Given the description of an element on the screen output the (x, y) to click on. 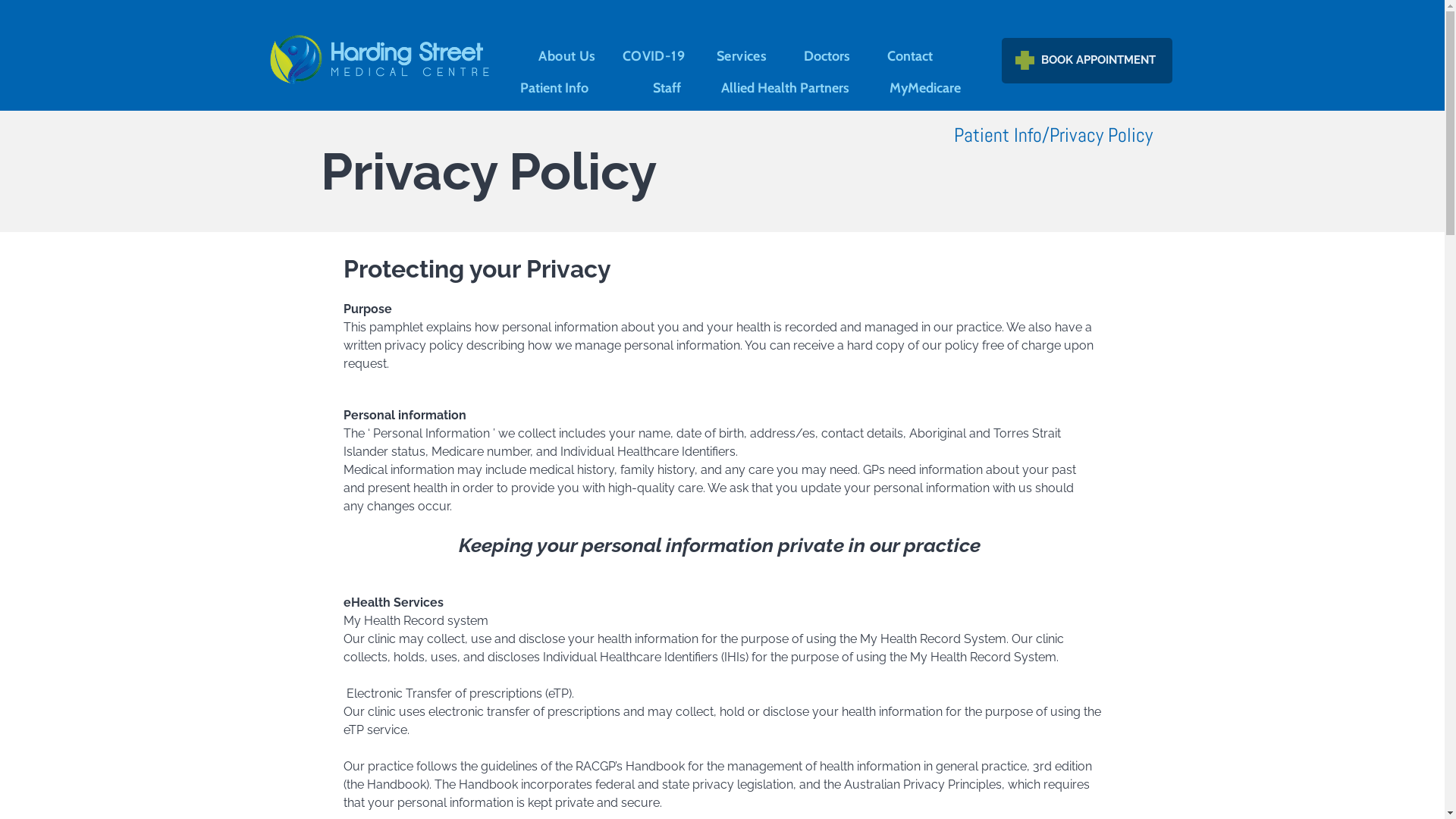
Patient Info Element type: text (553, 88)
MyMedicare Element type: text (924, 88)
 Services Element type: text (740, 56)
BOOK APPOINTMENT Element type: text (1086, 60)
COVID-19 Element type: text (653, 56)
About Us Element type: text (567, 56)
Staff Element type: text (665, 88)
Doctors Element type: text (826, 56)
Contact Element type: text (910, 56)
Allied Health Partners Element type: text (785, 88)
